Given the description of an element on the screen output the (x, y) to click on. 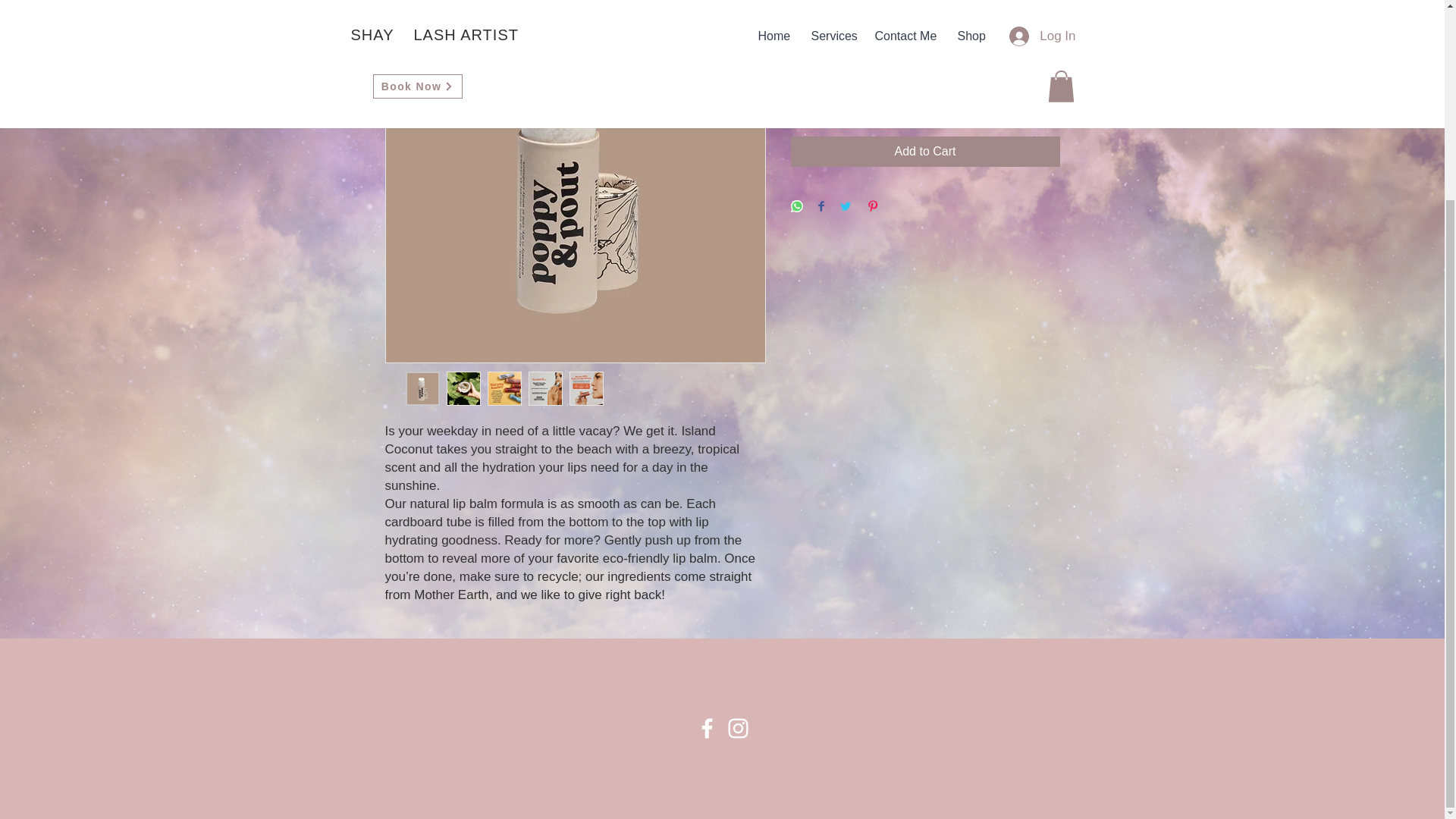
1 (818, 96)
Add to Cart (924, 151)
